Given the description of an element on the screen output the (x, y) to click on. 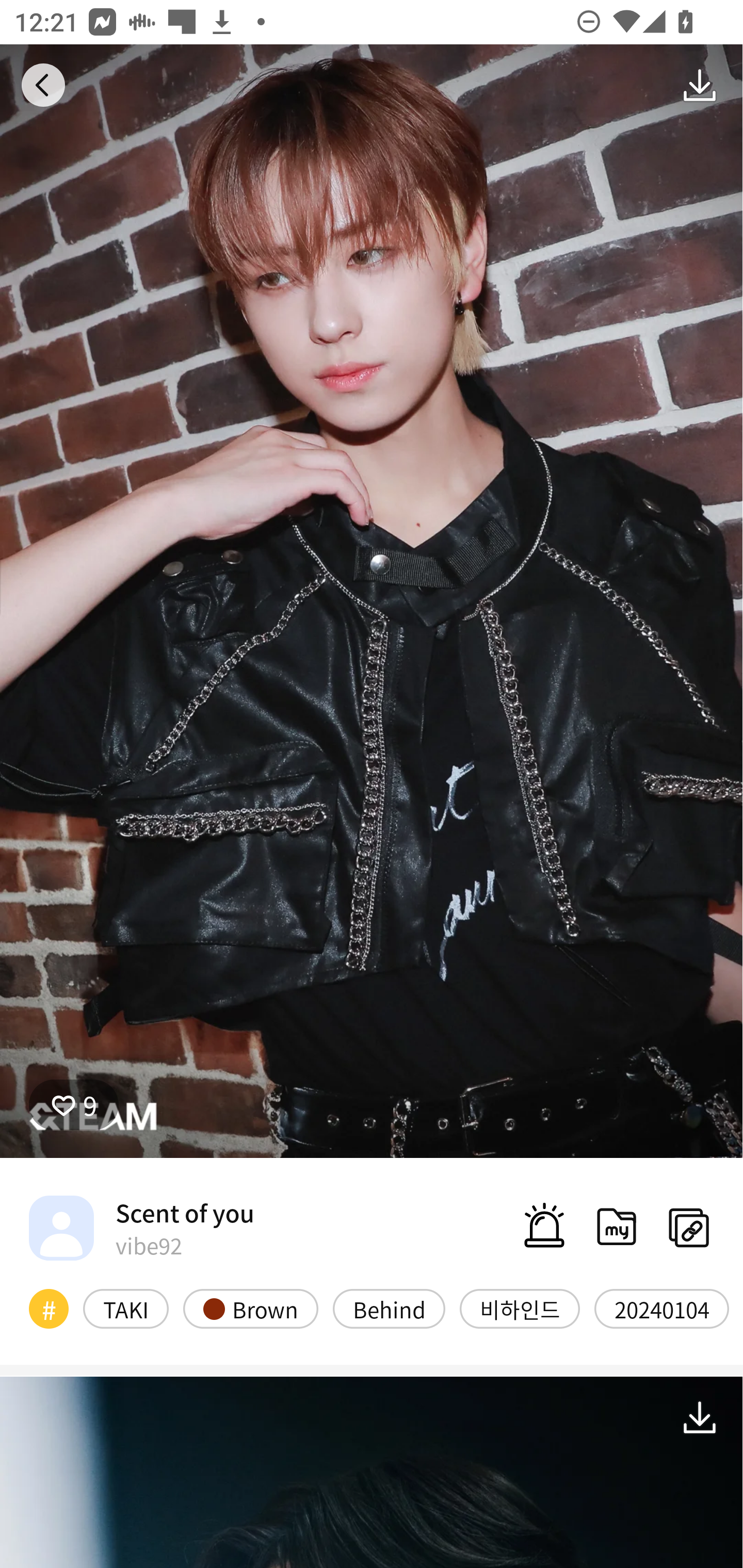
9 (73, 1104)
Scent of you vibe92 (141, 1227)
TAKI (125, 1308)
Brown (250, 1308)
Behind (388, 1308)
비하인드 (519, 1308)
20240104 (661, 1308)
